Given the description of an element on the screen output the (x, y) to click on. 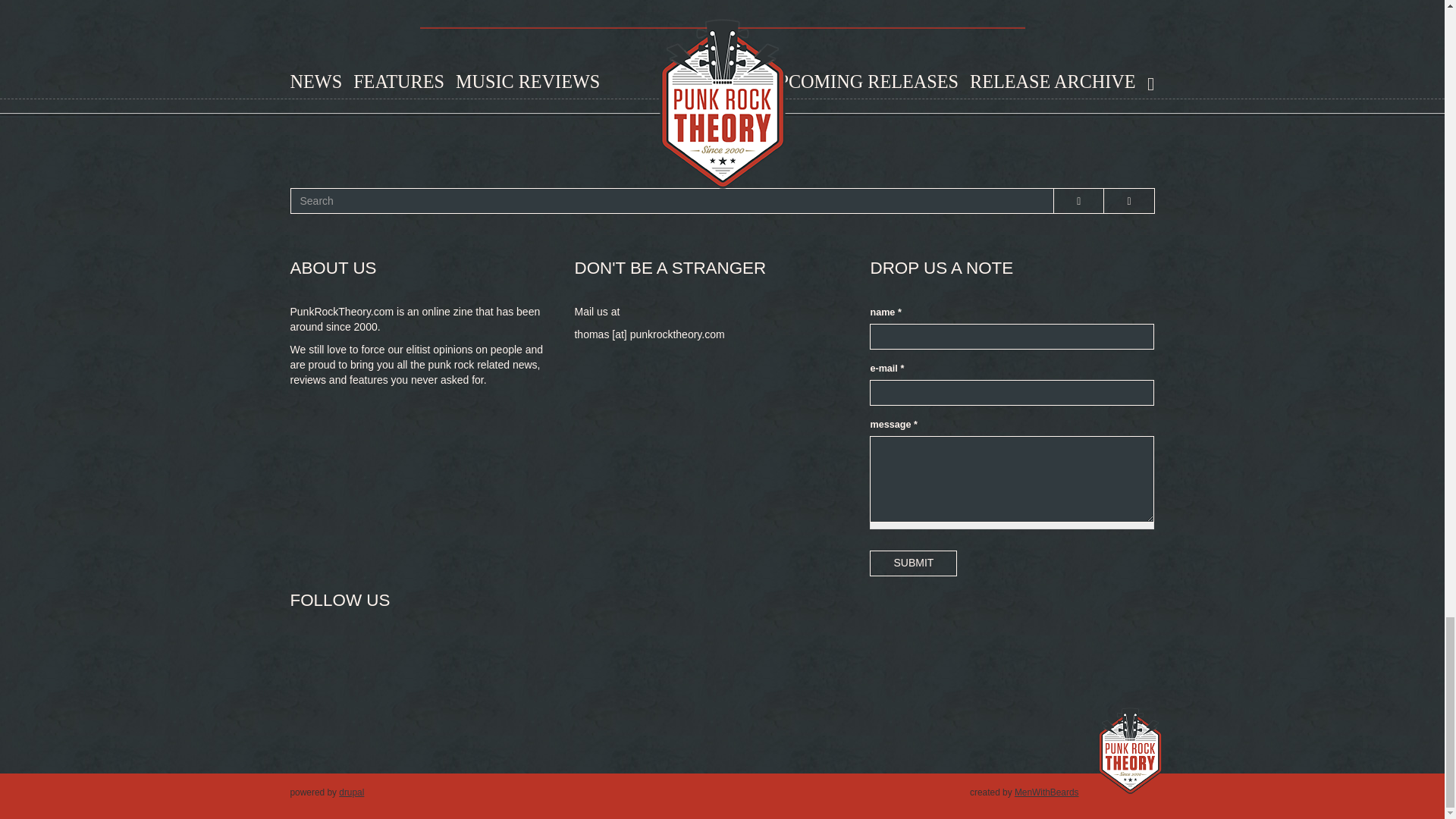
SUBMIT (912, 563)
Instagram (469, 659)
YouTube (416, 659)
drupal (351, 792)
Twitter (364, 659)
SEARCH (312, 214)
Enter the terms you wish to search for. (671, 200)
Facebook (311, 659)
